Given the description of an element on the screen output the (x, y) to click on. 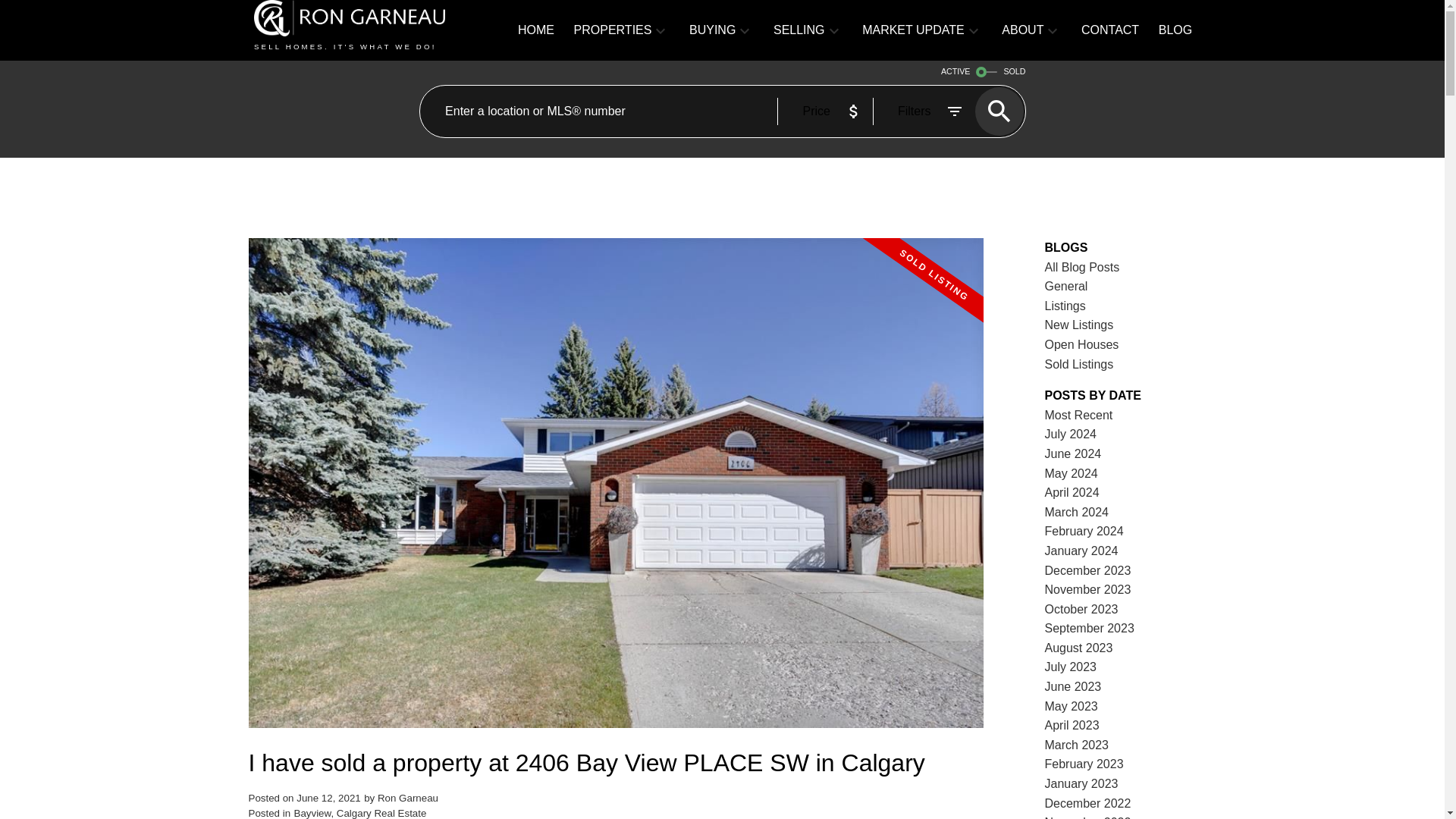
CONTACT (1109, 30)
SELL HOMES. IT'S WHAT WE DO! (364, 30)
July 2024 (1071, 433)
March 2024 (1077, 512)
Most Recent (1079, 414)
General (1066, 286)
Sold Listings (1079, 364)
Open Houses (1082, 344)
HOME (536, 30)
All Blog Posts (1082, 267)
June 2024 (1073, 453)
May 2024 (1071, 472)
Bayview, Calgary Real Estate (360, 813)
April 2024 (1072, 492)
Listings (1065, 305)
